Given the description of an element on the screen output the (x, y) to click on. 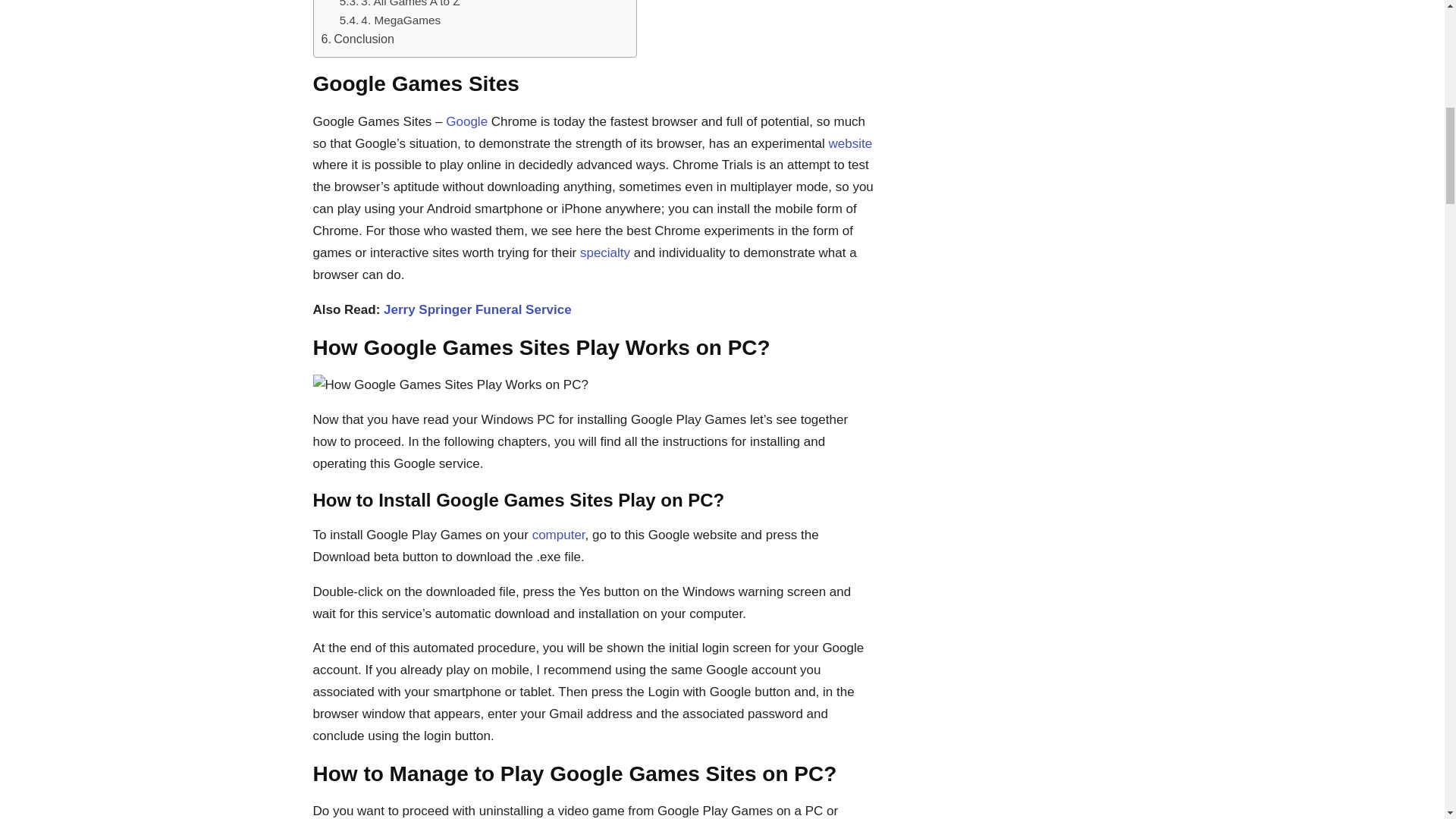
Conclusion (357, 39)
website (850, 143)
4. MegaGames (390, 20)
3. All Games A to Z (399, 5)
Google (466, 121)
